Given the description of an element on the screen output the (x, y) to click on. 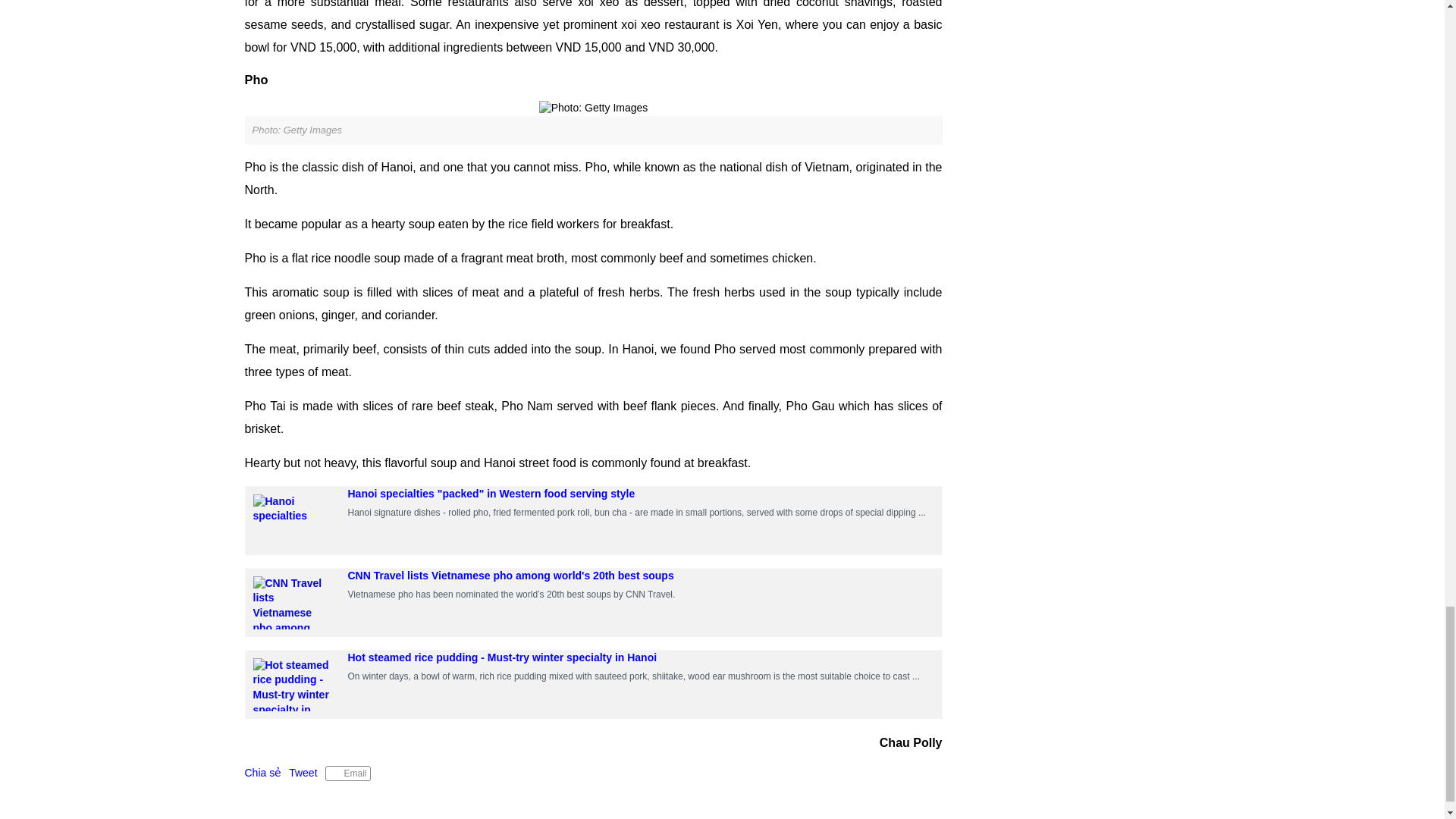
Photo: Getty Images (592, 108)
Hanoi specialties "packed" in Western food serving style (490, 493)
